Given the description of an element on the screen output the (x, y) to click on. 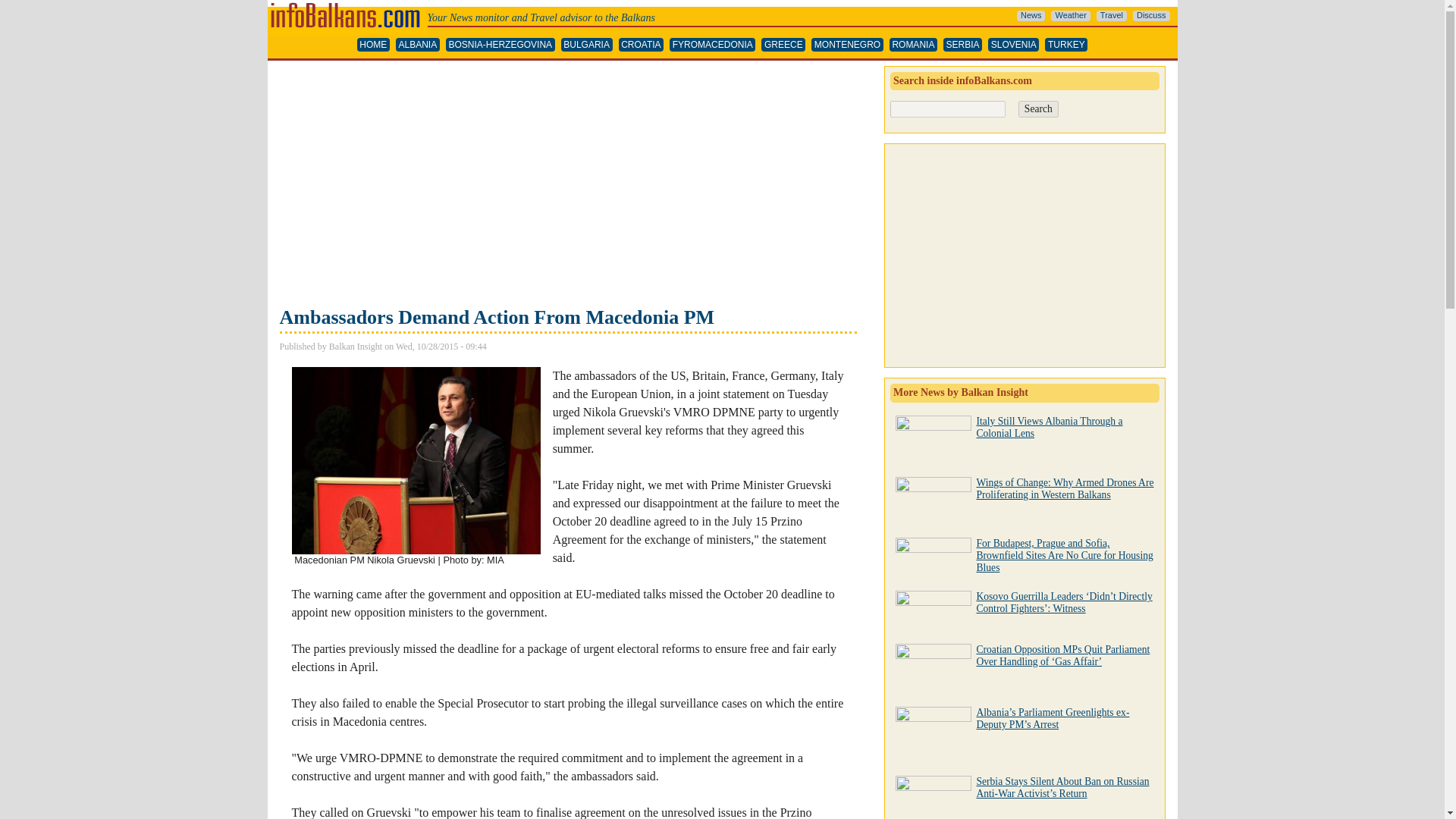
SERBIA (962, 44)
Weather (1070, 15)
Search (1037, 108)
News (1030, 15)
Enter the terms you wish to search for. (947, 108)
HOME (373, 44)
MONTENEGRO (846, 44)
BOSNIA-HERZEGOVINA (499, 44)
BULGARIA (586, 44)
Discuss (1151, 15)
